Given the description of an element on the screen output the (x, y) to click on. 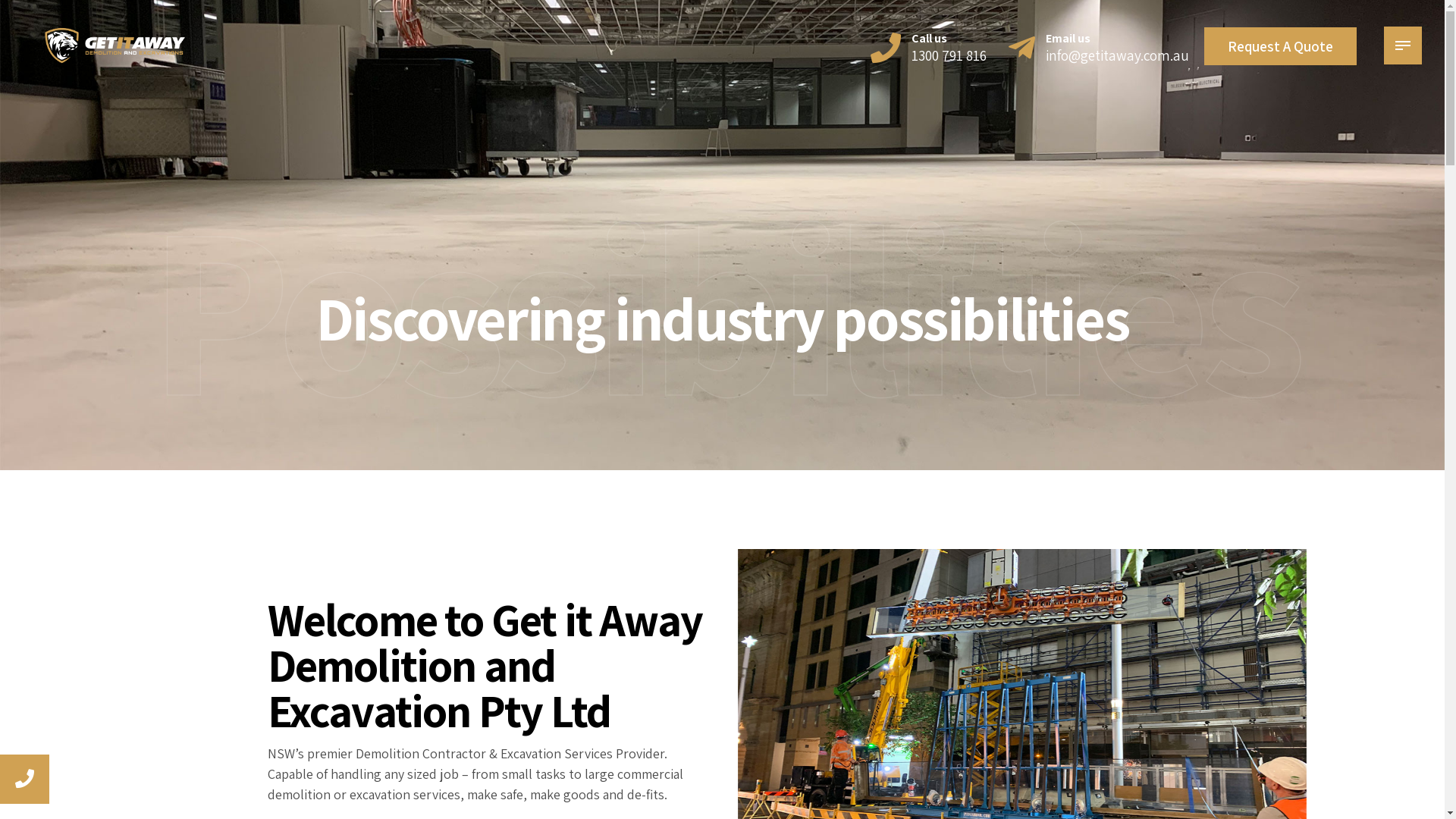
Call us
1300 791 816 Element type: text (928, 46)
Email us
info@getitaway.com.au Element type: text (1098, 46)
